Given the description of an element on the screen output the (x, y) to click on. 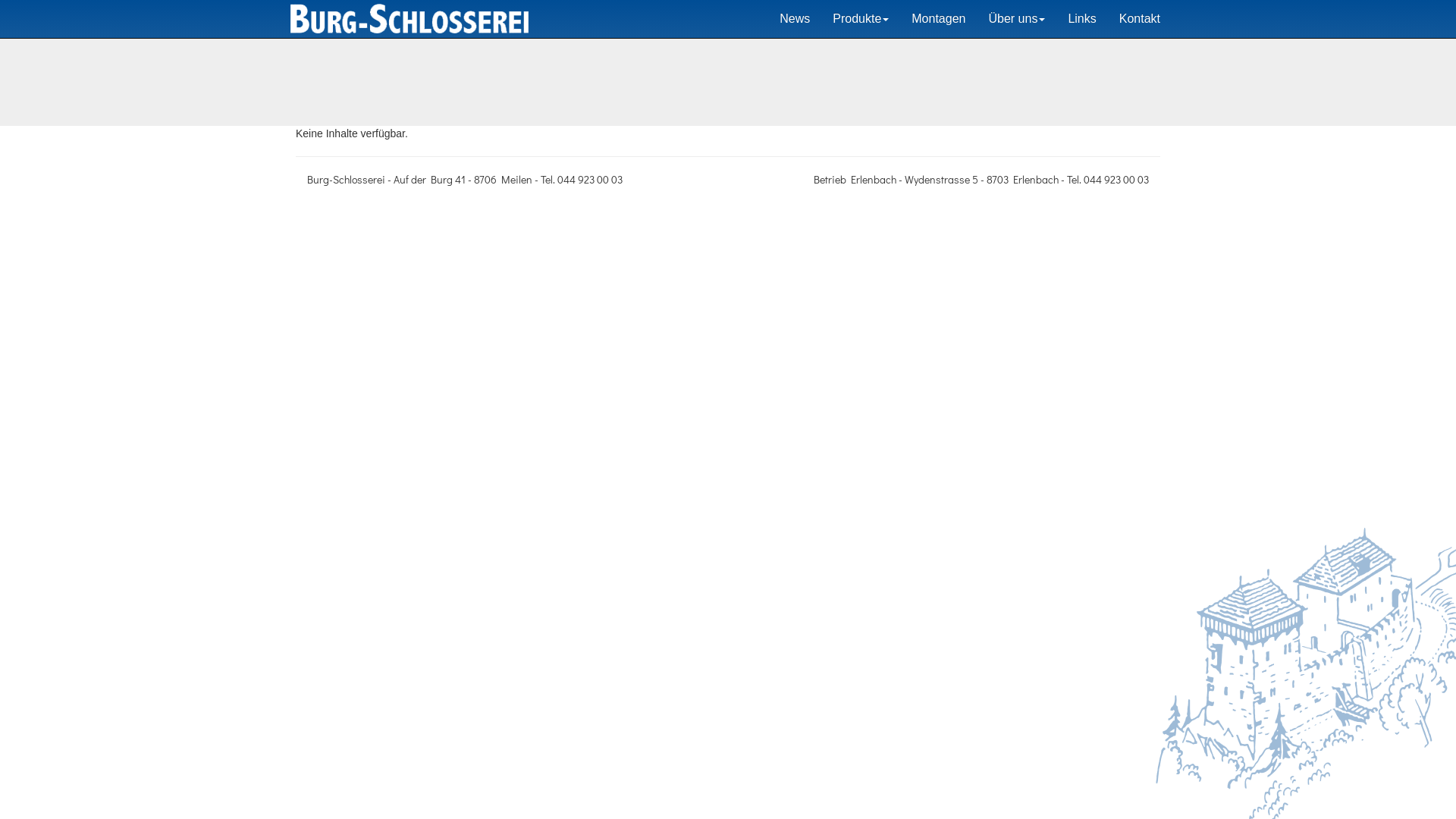
News Element type: text (794, 18)
Produkte Element type: text (860, 18)
Links Element type: text (1081, 18)
Montagen Element type: text (938, 18)
Kontakt Element type: text (1139, 18)
